Given the description of an element on the screen output the (x, y) to click on. 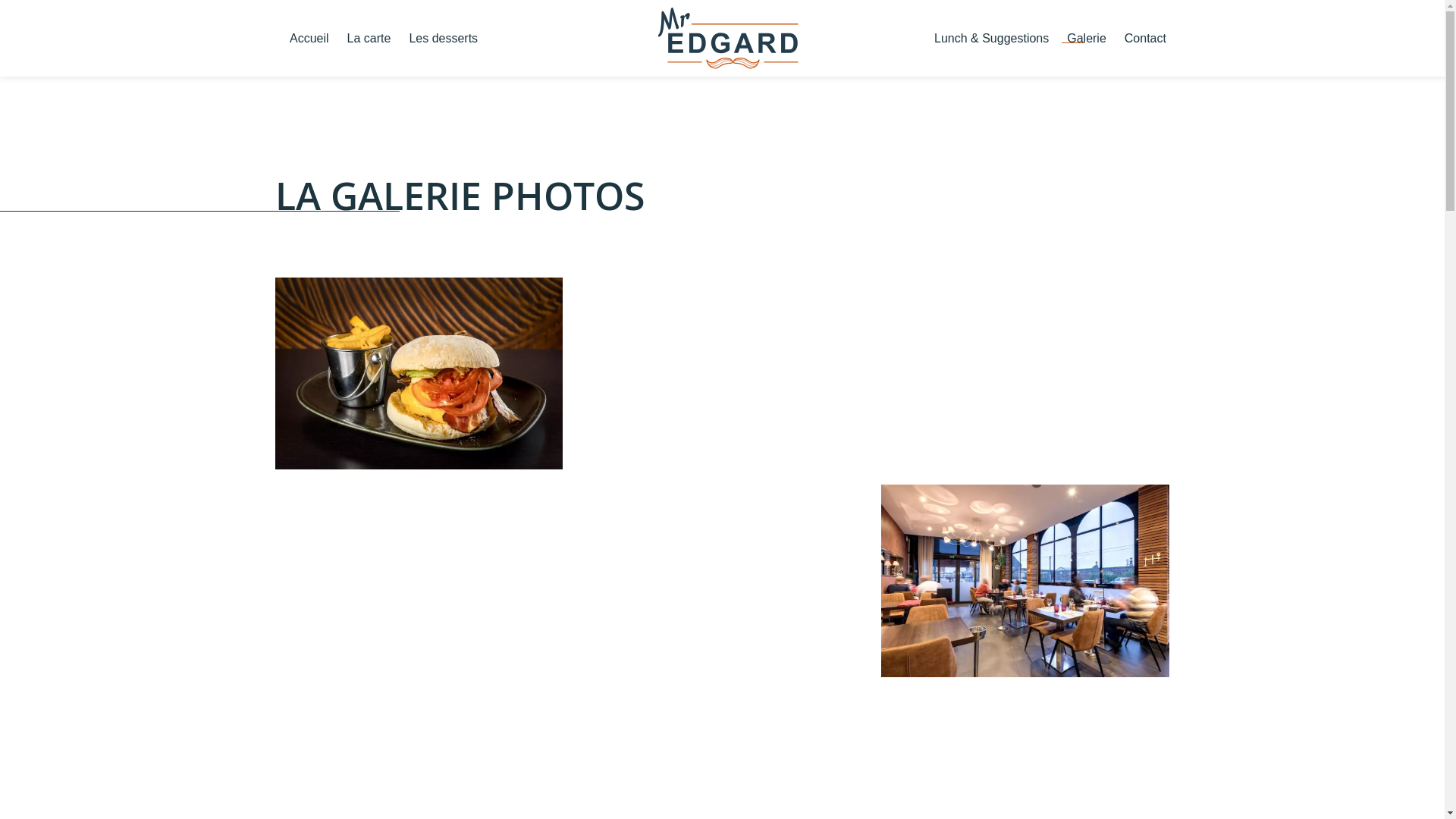
Accueil Element type: text (309, 38)
La carte Element type: text (369, 38)
Contact Element type: text (1145, 38)
Les desserts Element type: text (442, 38)
Lunch & Suggestions Element type: text (991, 38)
Galerie Element type: text (1086, 38)
